Given the description of an element on the screen output the (x, y) to click on. 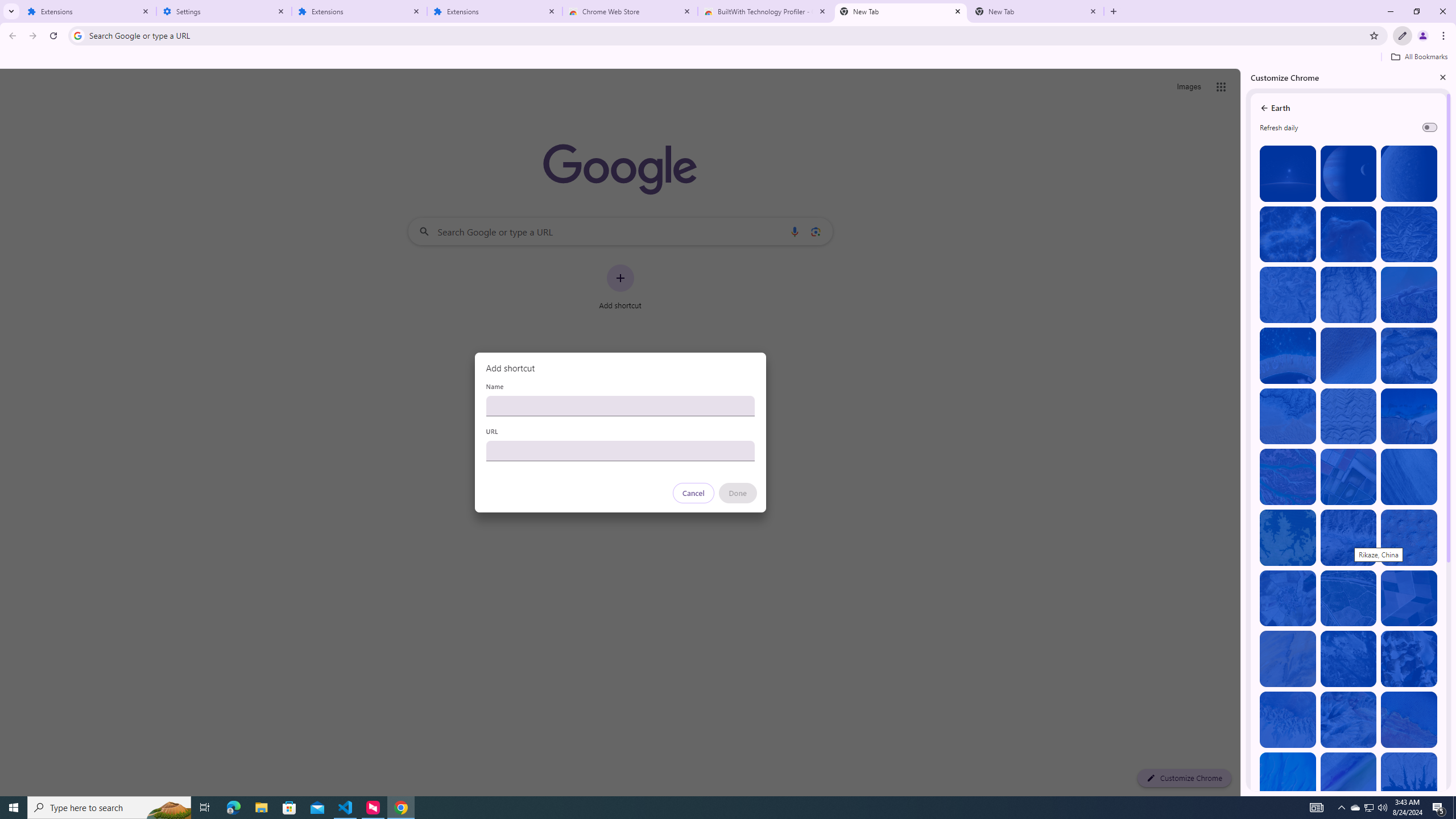
Done (737, 493)
Kelan, Shanxi, China (1408, 233)
Hardap, Namibia (1287, 416)
Zermatt, Wallis, Switzerland (1408, 355)
URL (620, 450)
Davis County, United States (1348, 780)
